Given the description of an element on the screen output the (x, y) to click on. 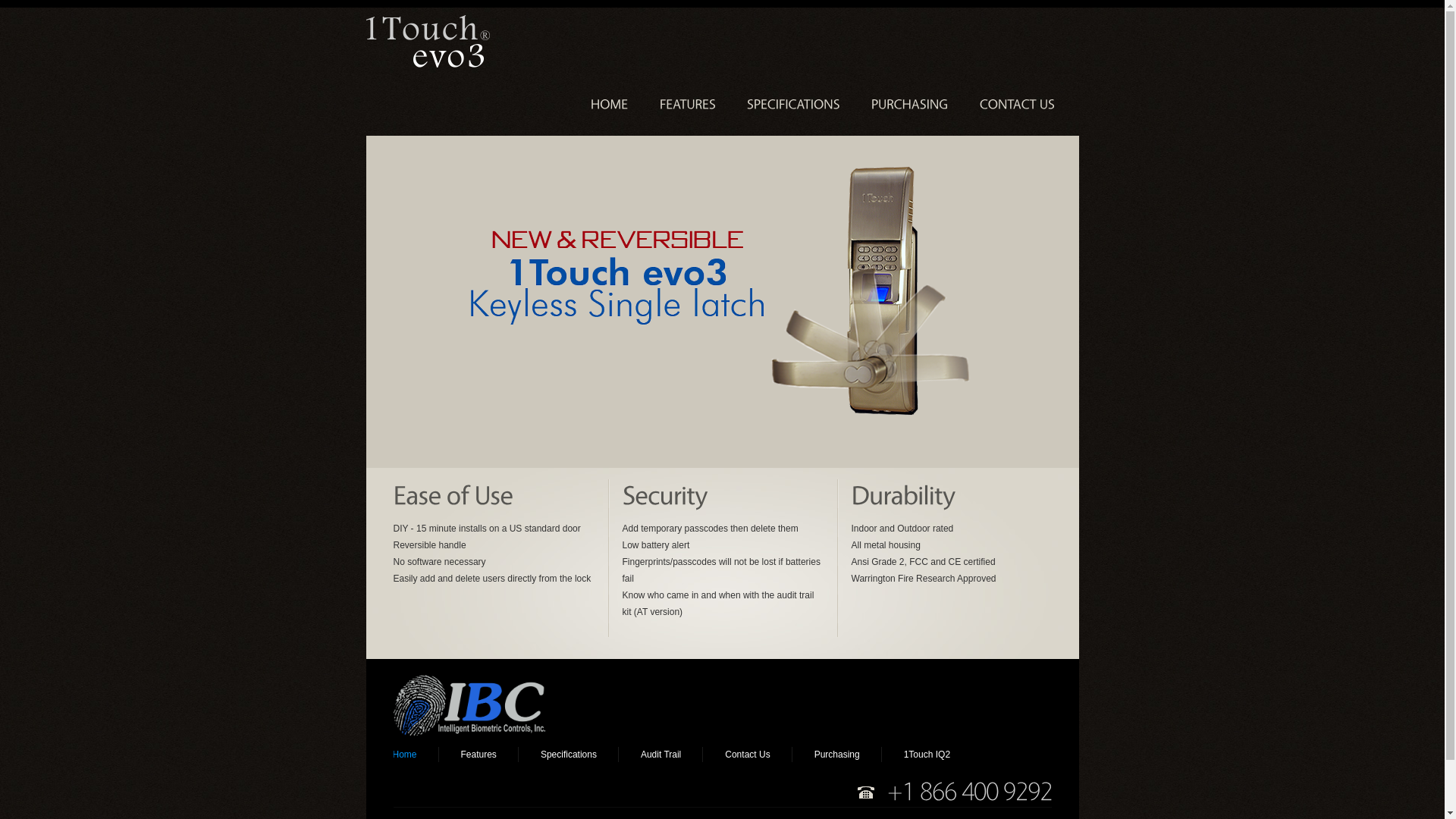
Audit Trail Element type: text (660, 754)
Specifications Element type: text (568, 754)
Contact Us Element type: text (746, 754)
Home Element type: text (404, 754)
Purchasing Element type: text (836, 754)
1Touch IQ2 Element type: text (926, 754)
Features Element type: text (478, 754)
